Given the description of an element on the screen output the (x, y) to click on. 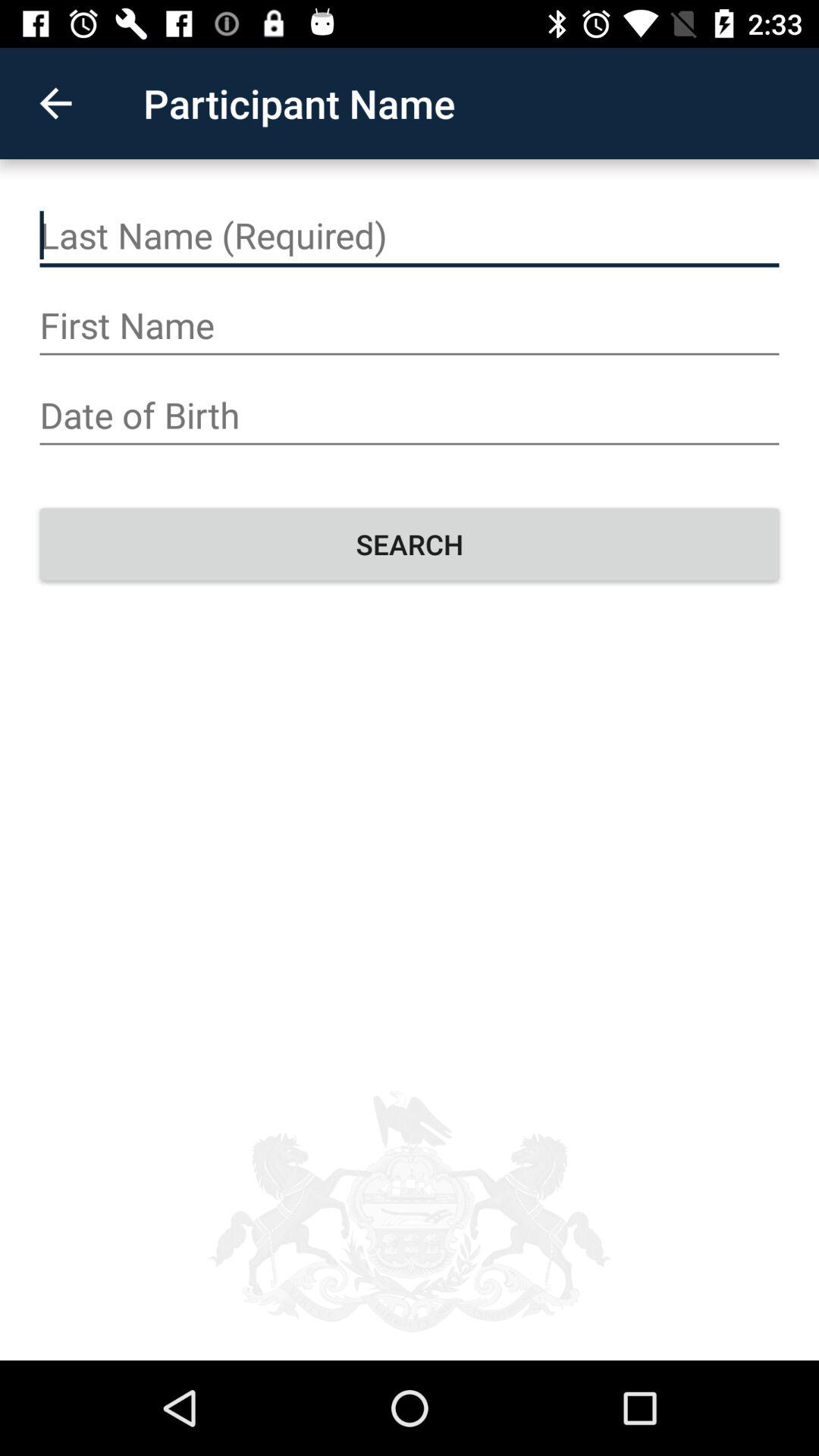
first name (409, 325)
